Given the description of an element on the screen output the (x, y) to click on. 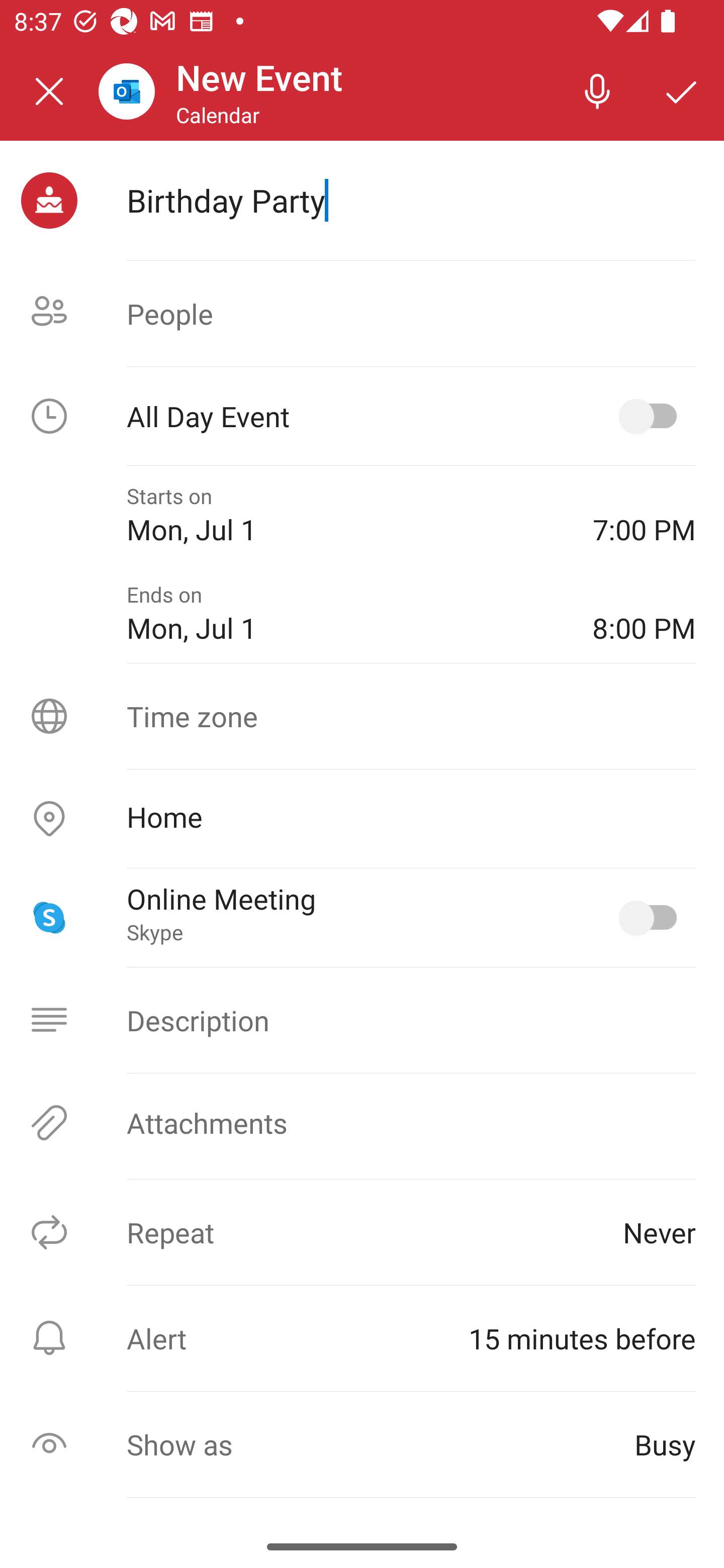
Close (49, 91)
Save (681, 90)
Birthday Party (410, 200)
birthday selected, event icon picker (48, 200)
People (362, 313)
All Day Event (362, 415)
Starts on Mon, Jul 1 (345, 514)
7:00 PM (644, 514)
Ends on Mon, Jul 1 (345, 613)
8:00 PM (644, 613)
Time zone (362, 715)
Location, Home Home (362, 818)
Online Meeting, Skype selected (651, 917)
Description (362, 1019)
Attachments (362, 1122)
Repeat Never (362, 1232)
Alert ⁨15 minutes before (362, 1337)
Show as Busy (362, 1444)
